Given the description of an element on the screen output the (x, y) to click on. 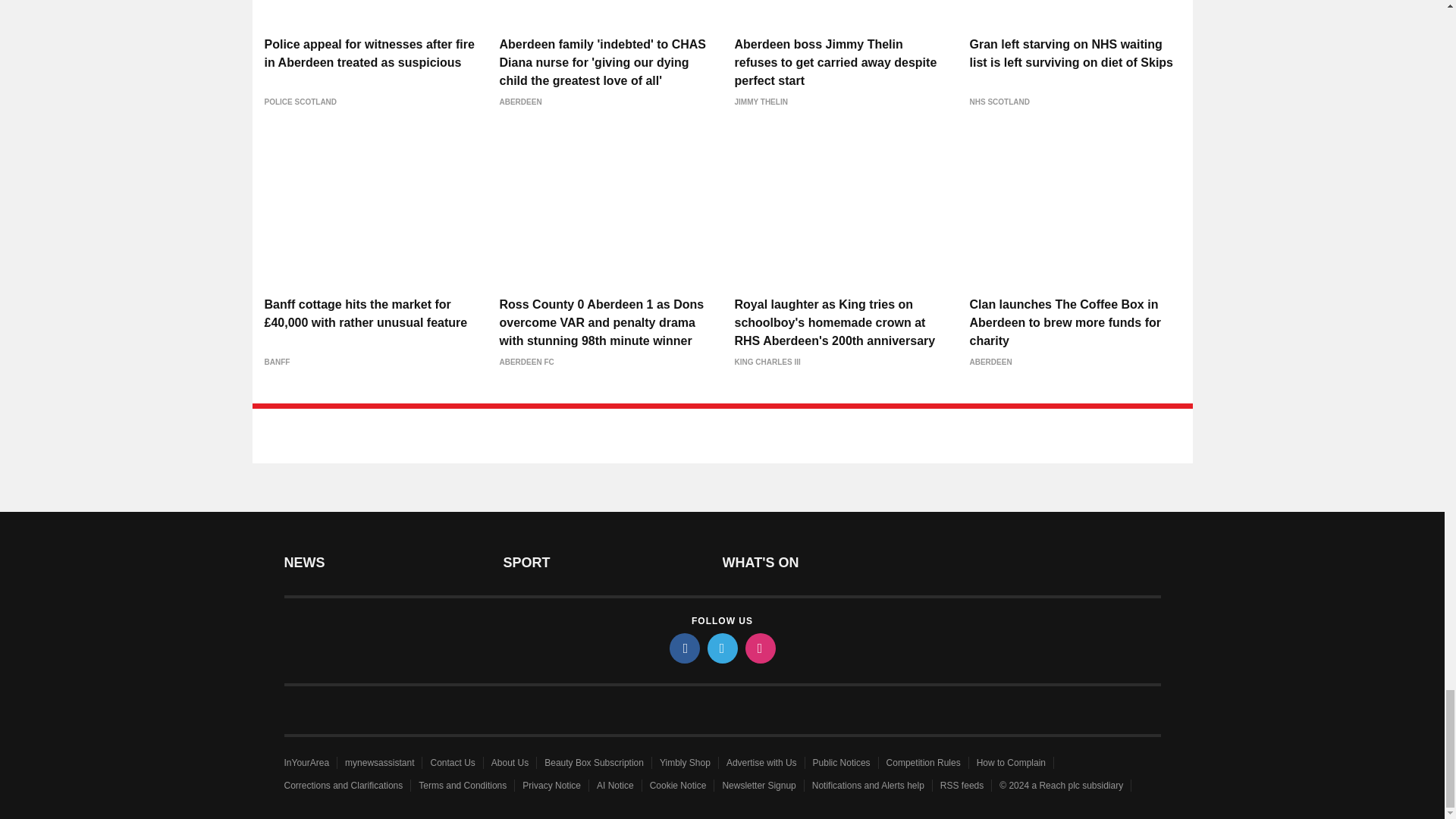
facebook (683, 648)
twitter (721, 648)
instagram (759, 648)
